Given the description of an element on the screen output the (x, y) to click on. 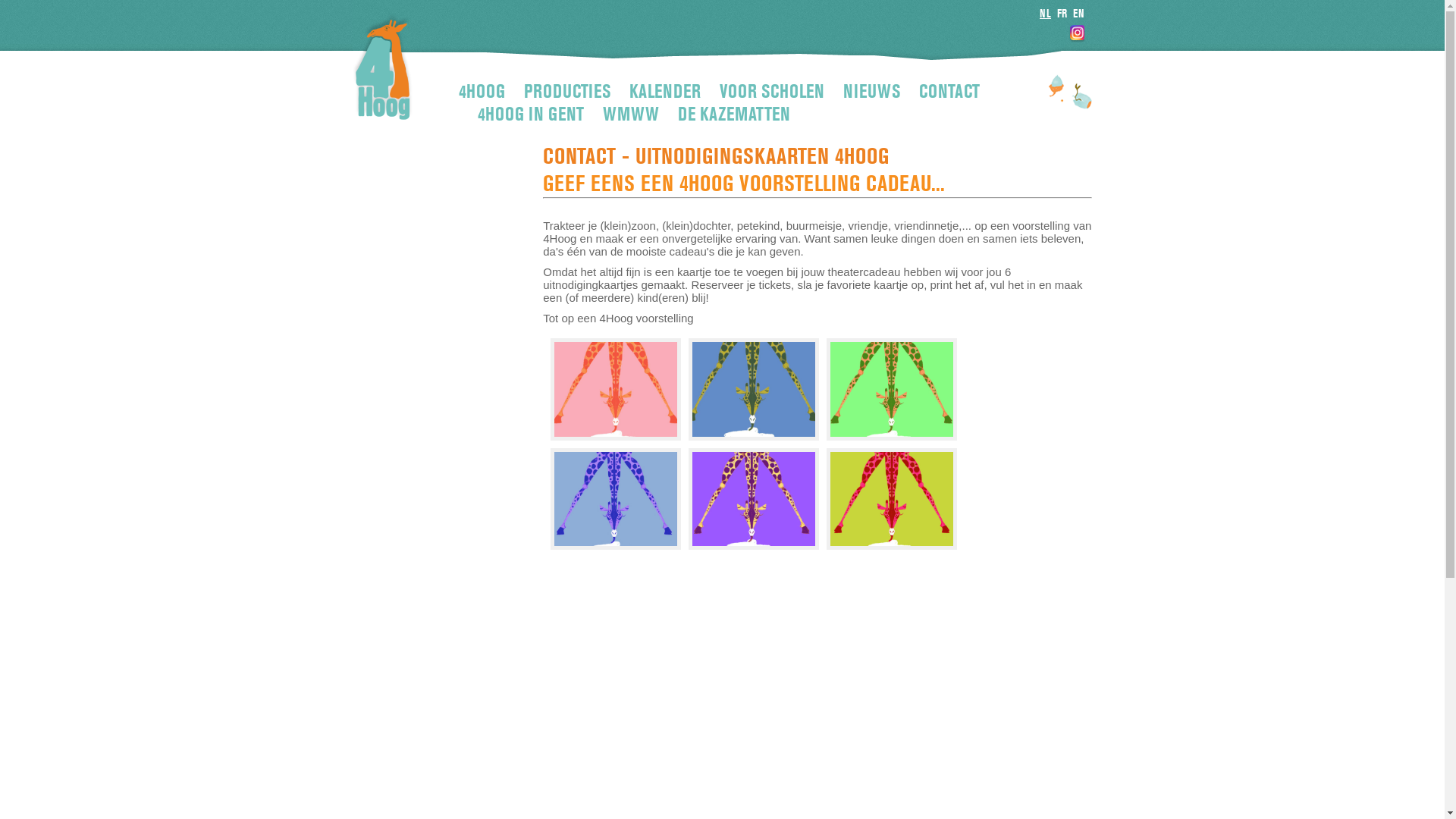
FR Element type: text (1061, 13)
EN Element type: text (1078, 13)
NIEUWS Element type: text (871, 91)
VOOR SCHOLEN Element type: text (771, 91)
4HOOG Element type: text (481, 91)
4Hoog Element type: text (382, 65)
WMWW Element type: text (630, 114)
INSTAGRAM Element type: text (1073, 34)
KALENDER Element type: text (664, 91)
NL Element type: text (1045, 13)
PRODUCTIES Element type: text (567, 91)
4HOOG IN GENT Element type: text (530, 114)
CONTACT Element type: text (949, 91)
DE KAZEMATTEN Element type: text (733, 114)
